Given the description of an element on the screen output the (x, y) to click on. 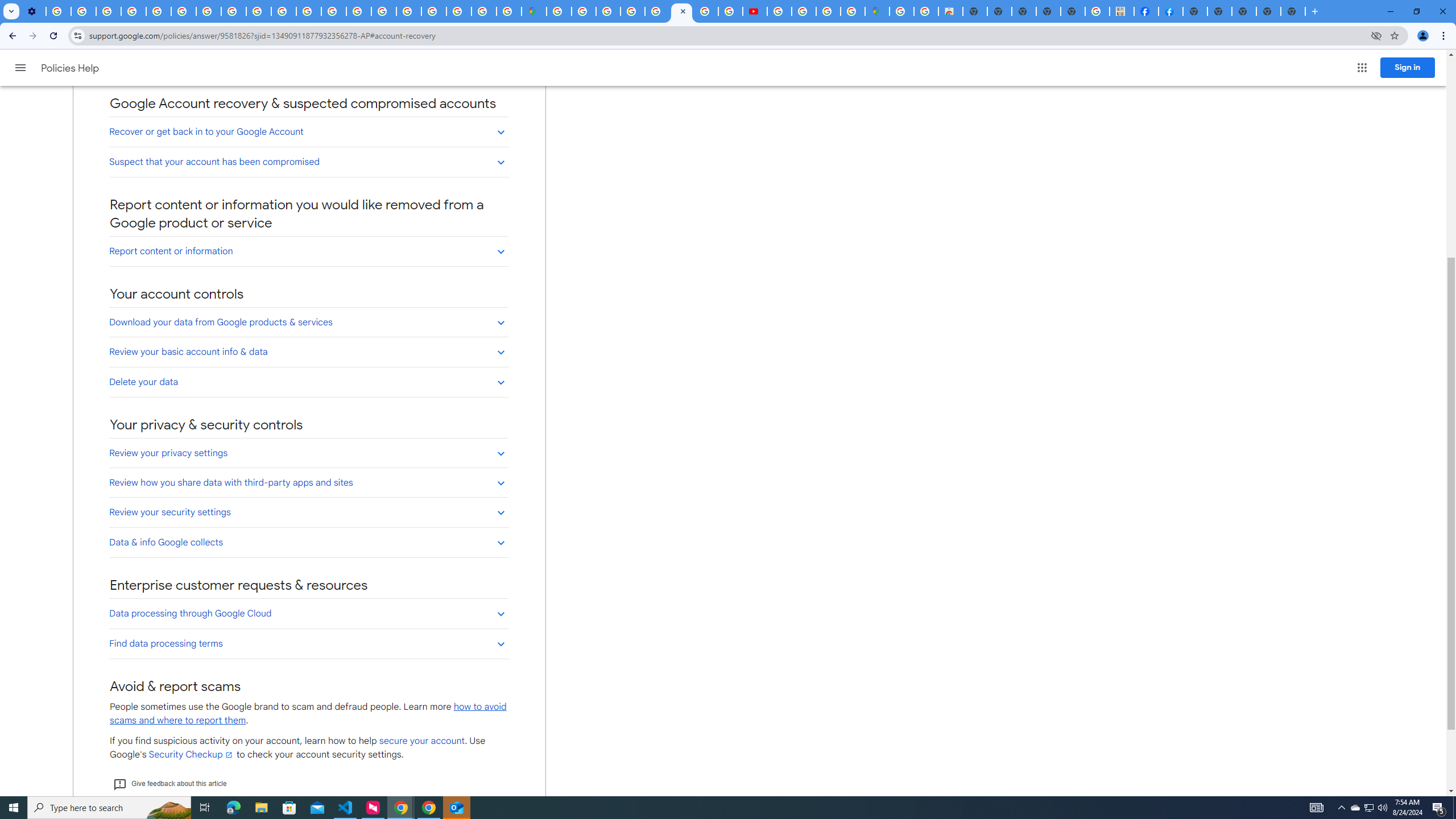
How Chrome protects your passwords - Google Chrome Help (778, 11)
Privacy Help Center - Policies Help (158, 11)
Delete photos & videos - Computer - Google Photos Help (57, 11)
Review your privacy settings (308, 453)
Data & info Google collects (308, 542)
Privacy Checkup (258, 11)
MILEY CYRUS. (1121, 11)
